Given the description of an element on the screen output the (x, y) to click on. 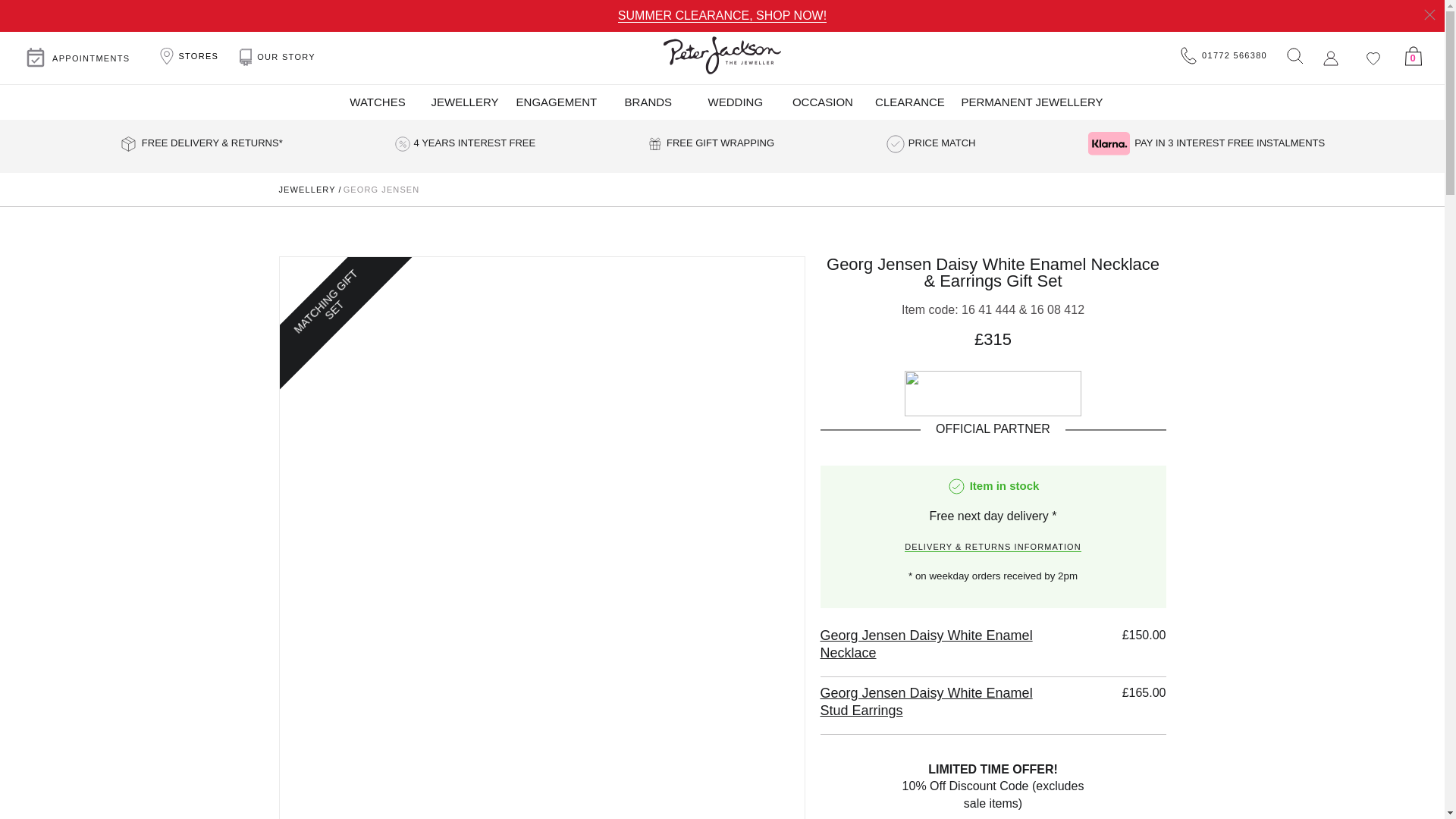
SUMMER CLEARANCE, SHOP NOW! (722, 15)
ACCOUNT (1330, 58)
OUR STORY (277, 57)
APPOINTMENTS (76, 57)
STORES (186, 55)
SEARCH (1294, 55)
01772 566380 (1223, 56)
WATCHES (376, 102)
